Given the description of an element on the screen output the (x, y) to click on. 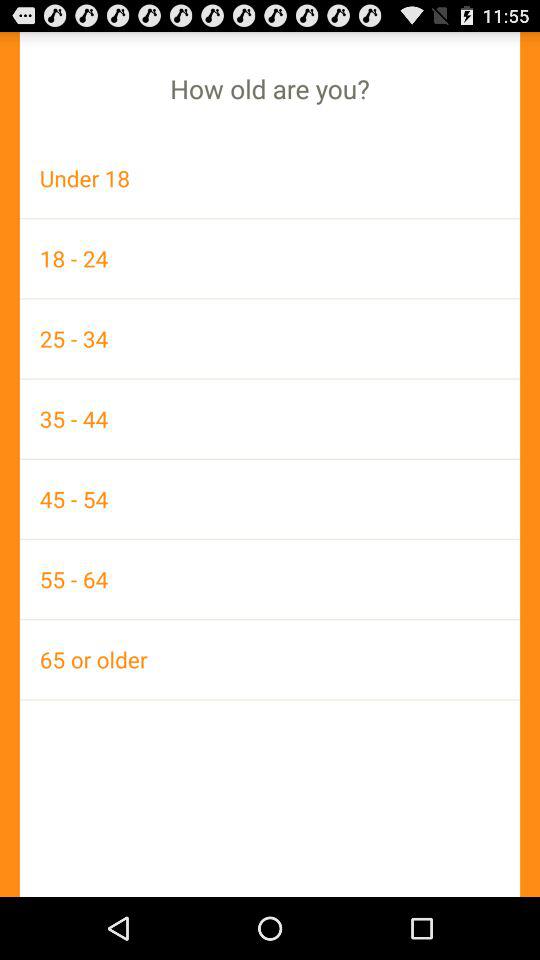
press the 18 - 24 app (269, 258)
